Given the description of an element on the screen output the (x, y) to click on. 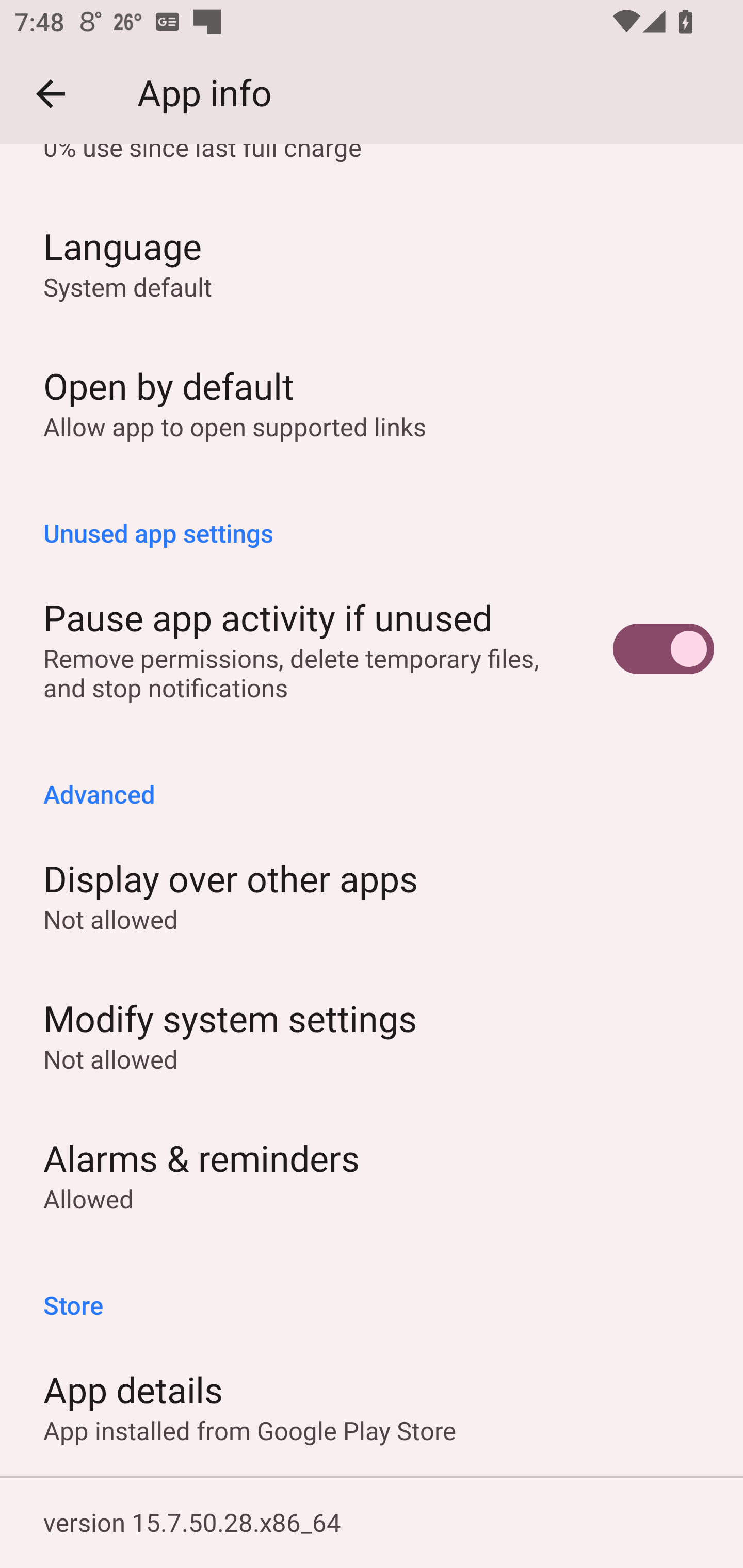
Navigate up (50, 93)
Language System default (371, 262)
Open by default Allow app to open supported links (371, 401)
Display over other apps Not allowed (371, 894)
Modify system settings Not allowed (371, 1034)
Alarms & reminders Allowed (371, 1174)
App details App installed from Google Play Store (371, 1405)
